Given the description of an element on the screen output the (x, y) to click on. 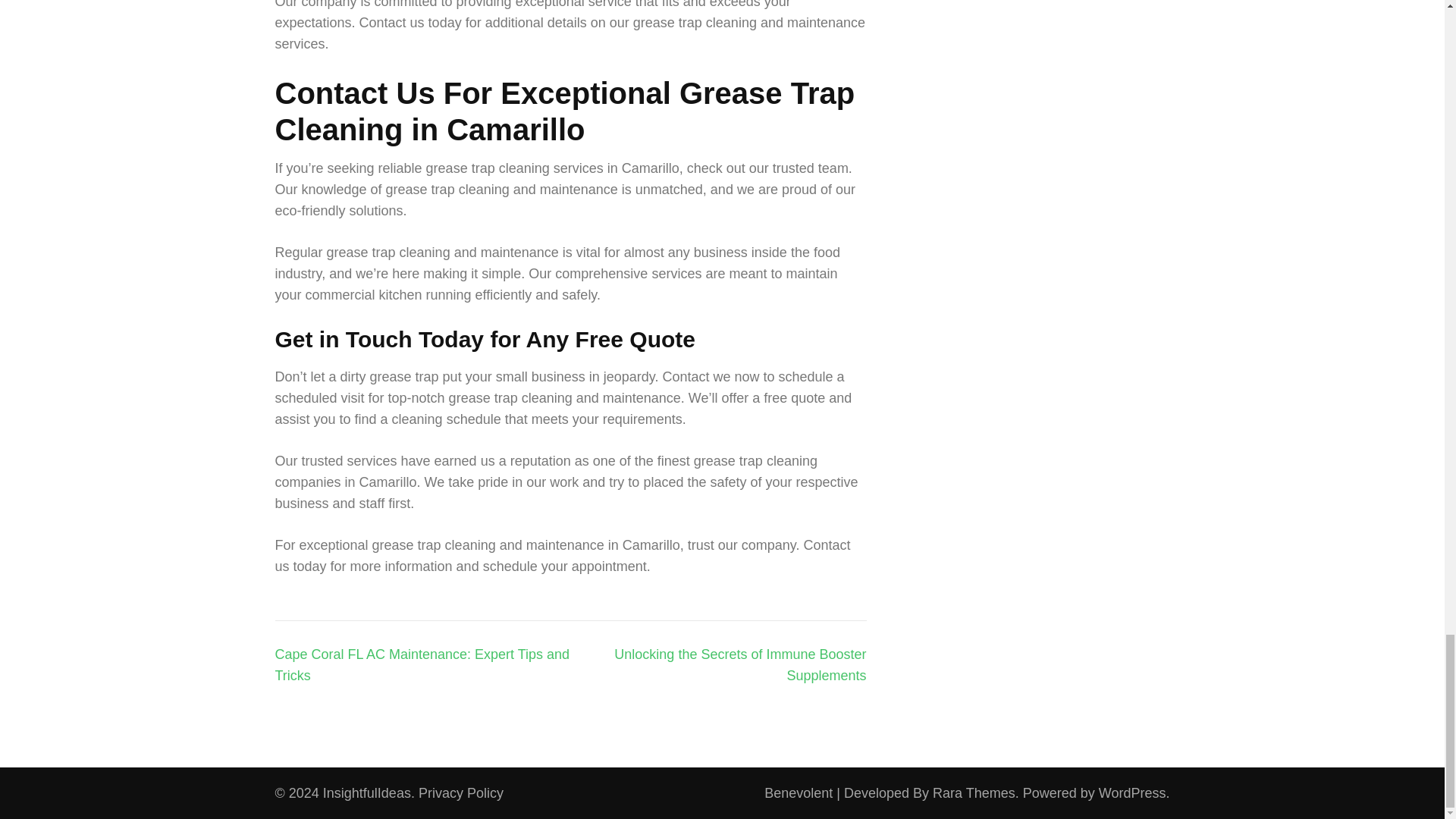
Unlocking the Secrets of Immune Booster Supplements (740, 665)
Cape Coral FL AC Maintenance: Expert Tips and Tricks (422, 665)
